Given the description of an element on the screen output the (x, y) to click on. 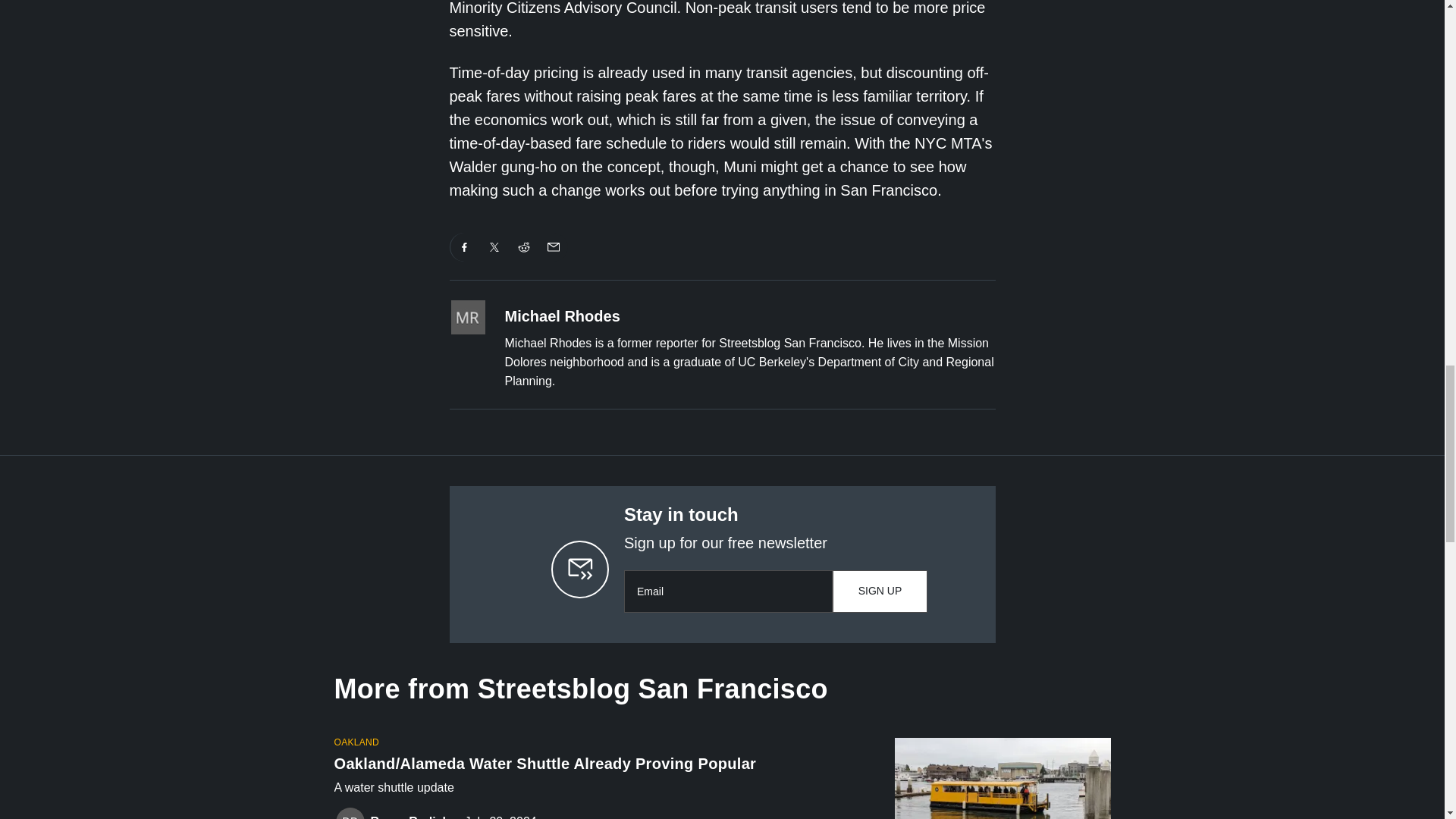
Share on Facebook (464, 246)
Share on Reddit (523, 246)
